Given the description of an element on the screen output the (x, y) to click on. 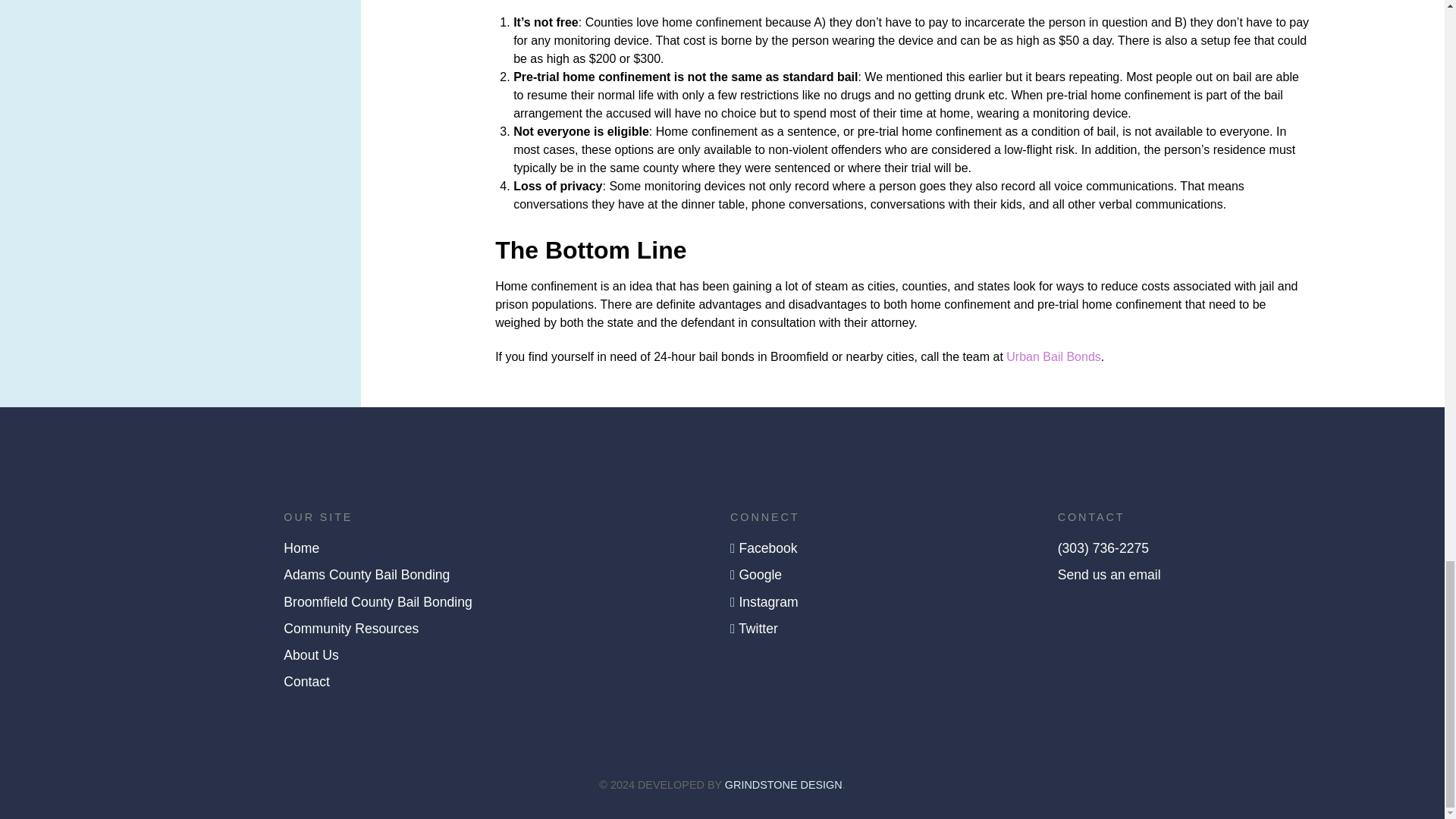
Send us an email (1109, 574)
About Us (310, 654)
Urban Bail Bonds (1053, 356)
Twitter (757, 628)
About Us (310, 654)
Broomfield County Bail Bonding (377, 601)
GRINDSTONE DESIGN (784, 784)
Instagram (767, 601)
Adams County Bail Bonding (366, 574)
Contact (306, 681)
